Given the description of an element on the screen output the (x, y) to click on. 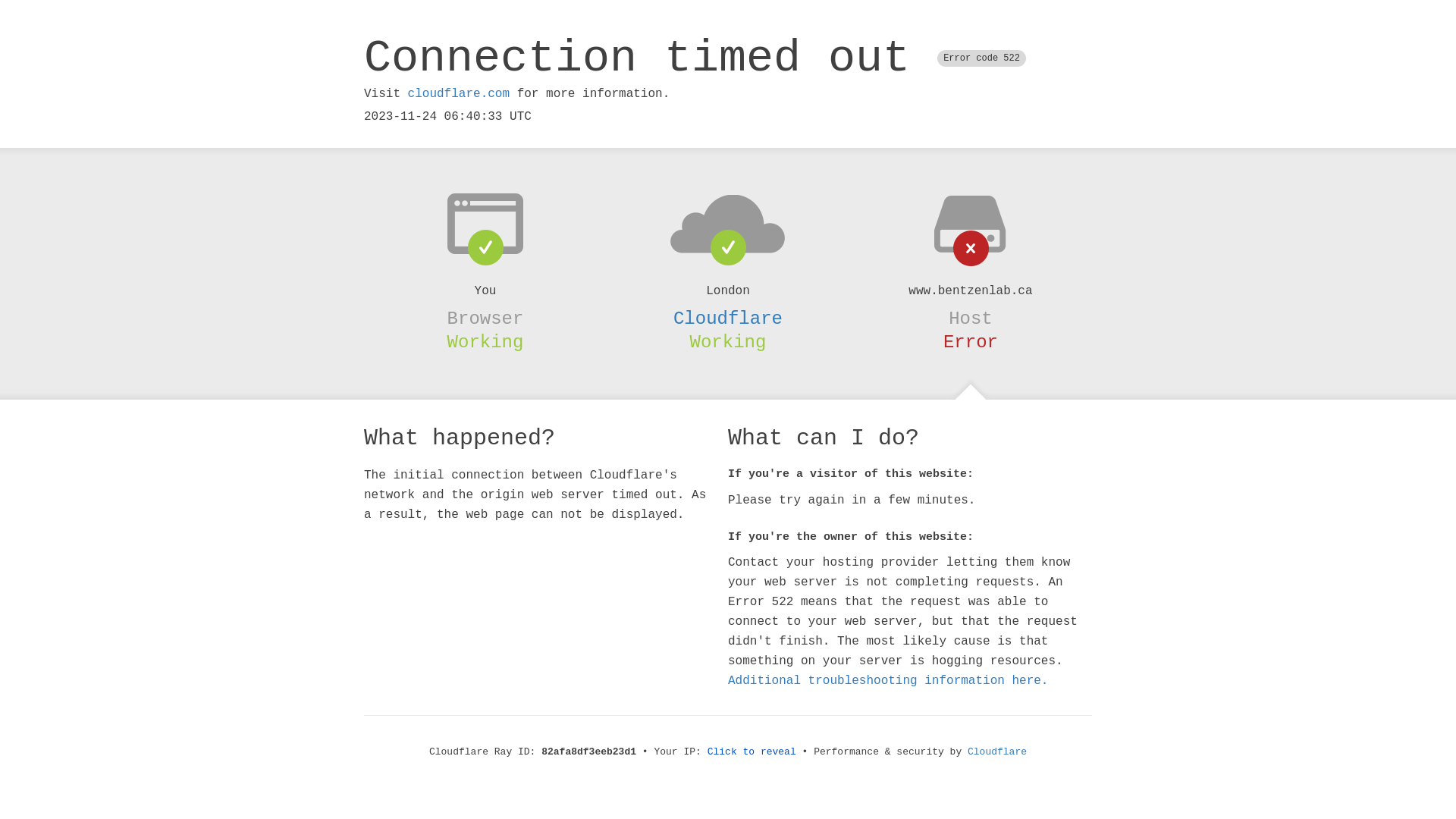
Click to reveal Element type: text (751, 751)
Cloudflare Element type: text (996, 751)
Cloudflare Element type: text (727, 318)
Additional troubleshooting information here. Element type: text (888, 680)
cloudflare.com Element type: text (458, 93)
